Given the description of an element on the screen output the (x, y) to click on. 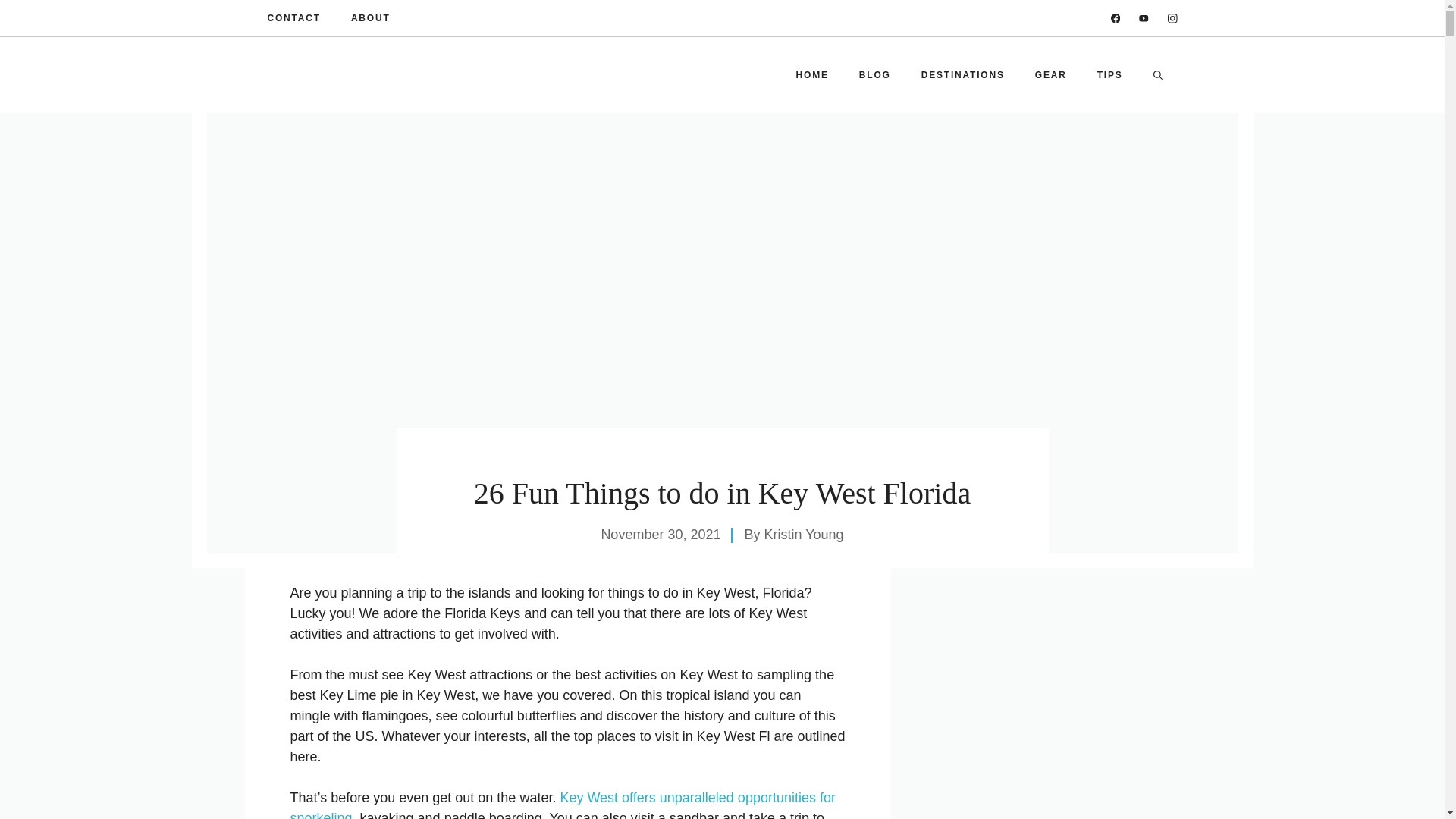
DESTINATIONS (962, 74)
Key West offers unparalleled opportunities for snorkeling (561, 804)
CONTACT (293, 18)
ABOUT (370, 18)
HOME (812, 74)
Kristin Young (804, 534)
TIPS (1109, 74)
GEAR (1050, 74)
BLOG (874, 74)
